Given the description of an element on the screen output the (x, y) to click on. 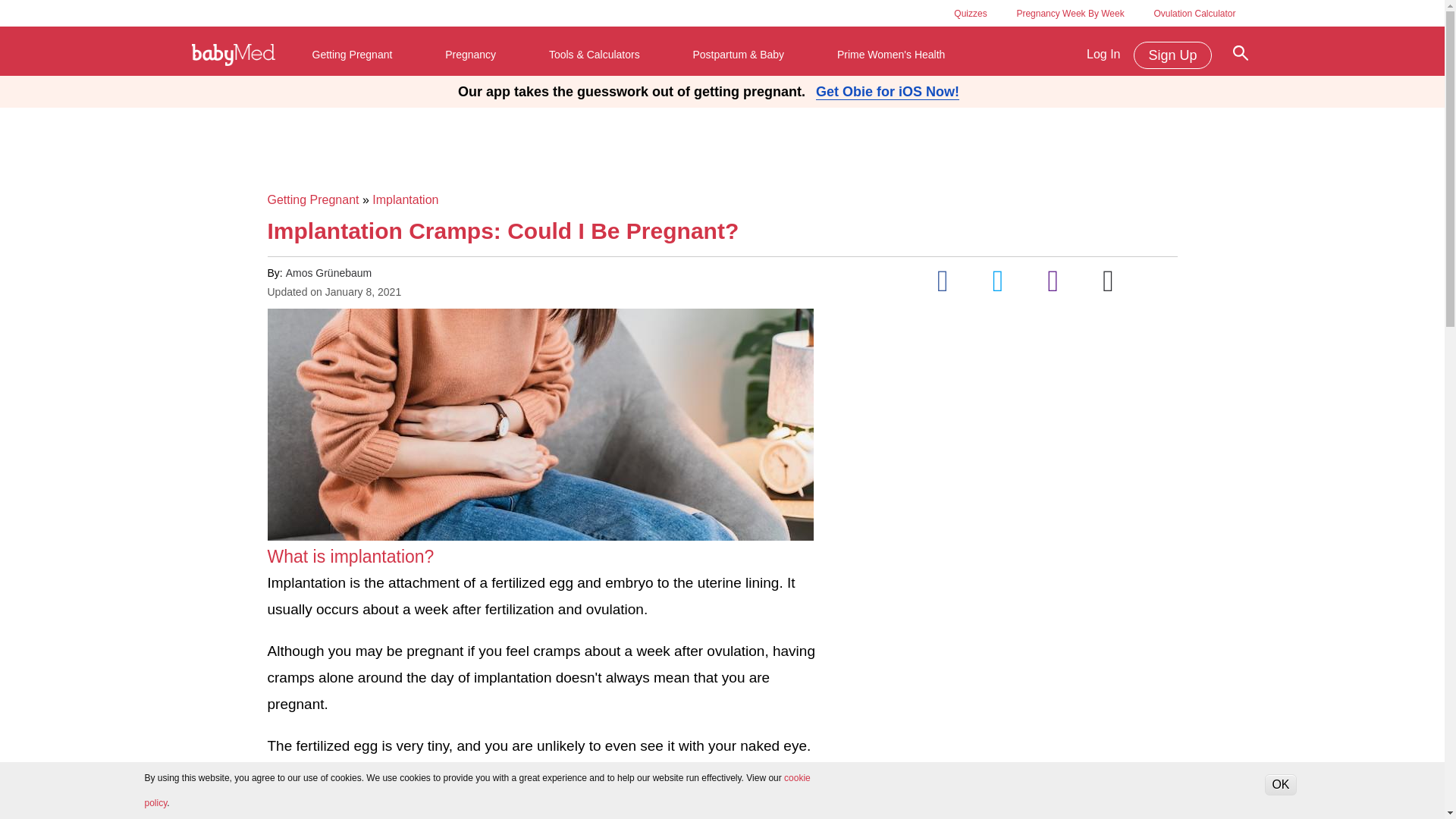
3rd party ad content (721, 145)
Implantation (405, 199)
Home (233, 54)
Pregnancy Week By Week (1070, 13)
Implantation Cramps: Could I Be Pregnant? (539, 424)
Email (1108, 280)
Share on Facebook (942, 280)
Ovulation Calculator (1193, 13)
Quizzes (970, 13)
Sign Up (1172, 54)
Pregnancy Week By Week (1070, 13)
Getting Pregnant (353, 54)
Follow us on Instagram (1053, 280)
